Given the description of an element on the screen output the (x, y) to click on. 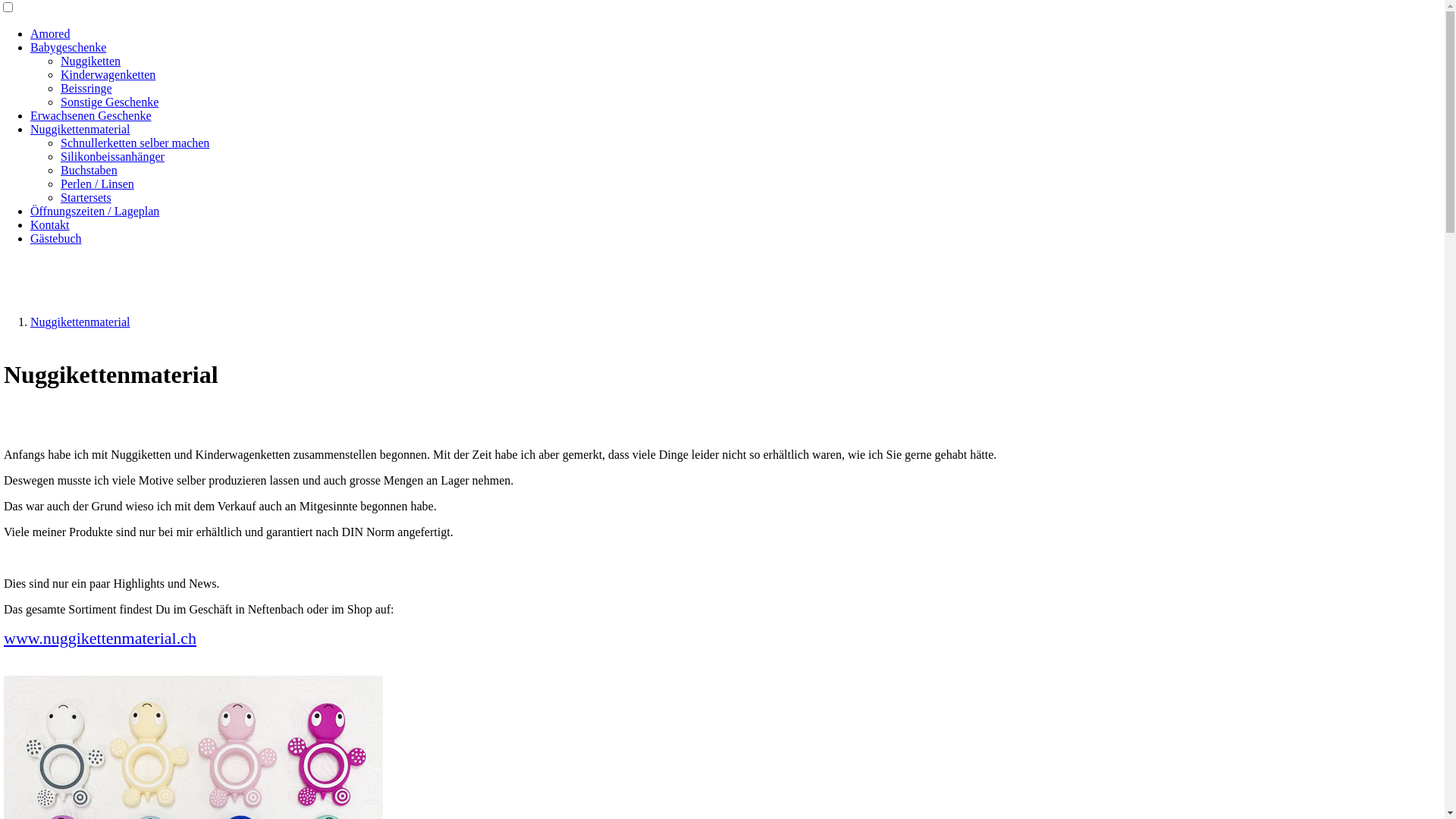
Buchstaben Element type: text (88, 169)
Kontakt Element type: text (49, 224)
Nuggikettenmaterial Element type: text (80, 321)
Erwachsenen Geschenke Element type: text (90, 115)
Amored Element type: text (49, 33)
Beissringe Element type: text (86, 87)
Nuggiketten Element type: text (90, 60)
Schnullerketten selber machen Element type: text (134, 142)
Nuggikettenmaterial Element type: text (80, 128)
Babygeschenke Element type: text (68, 46)
Perlen / Linsen Element type: text (97, 183)
Startersets Element type: text (85, 197)
Sonstige Geschenke Element type: text (109, 101)
Kinderwagenketten Element type: text (107, 74)
www.nuggikettenmaterial.ch Element type: text (99, 637)
